Given the description of an element on the screen output the (x, y) to click on. 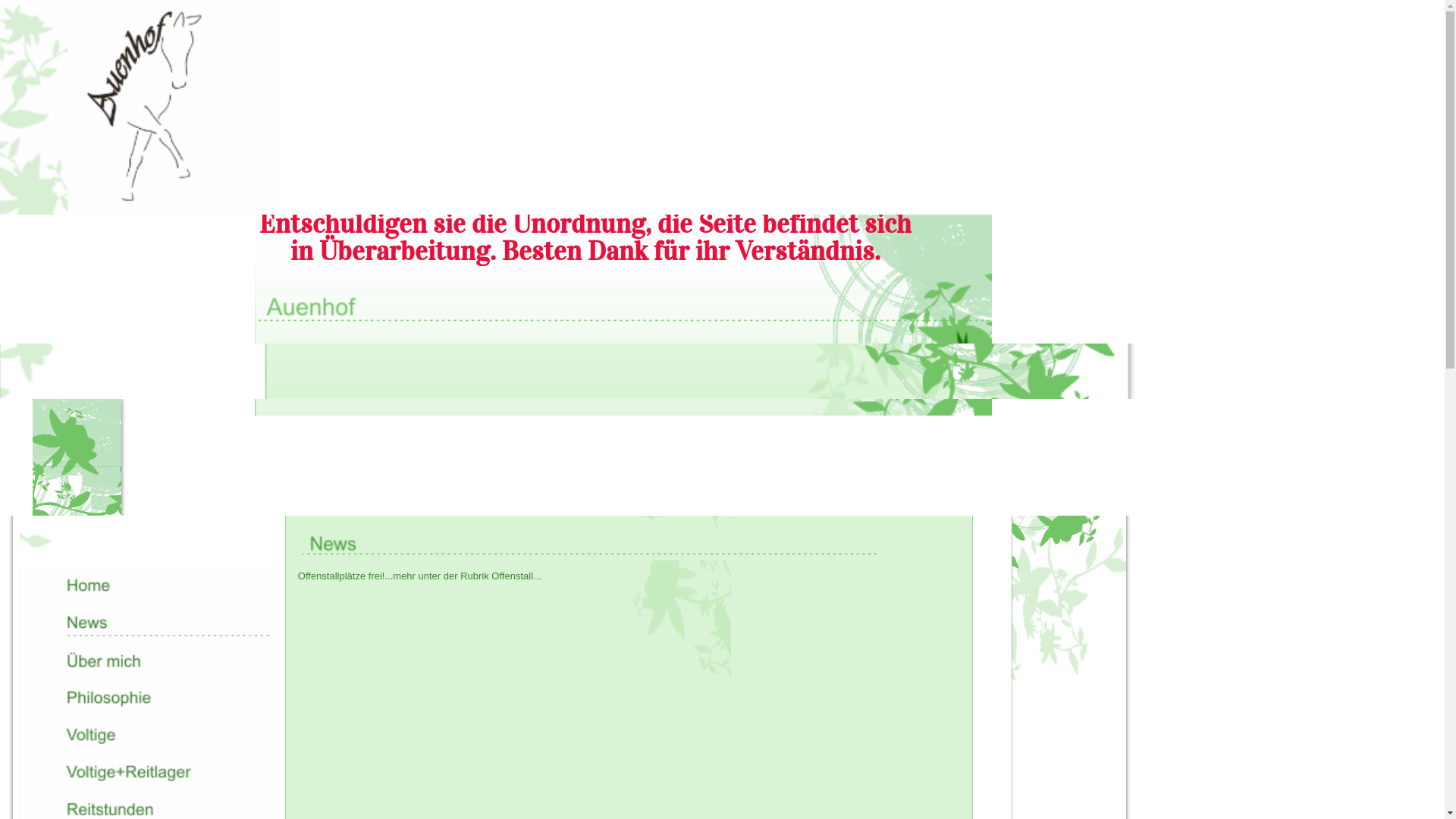
News Element type: hover (152, 621)
Voltige+Reitlager Element type: hover (152, 771)
Philosophie Element type: hover (152, 696)
Voltige Element type: hover (152, 734)
Home Element type: hover (152, 584)
